Given the description of an element on the screen output the (x, y) to click on. 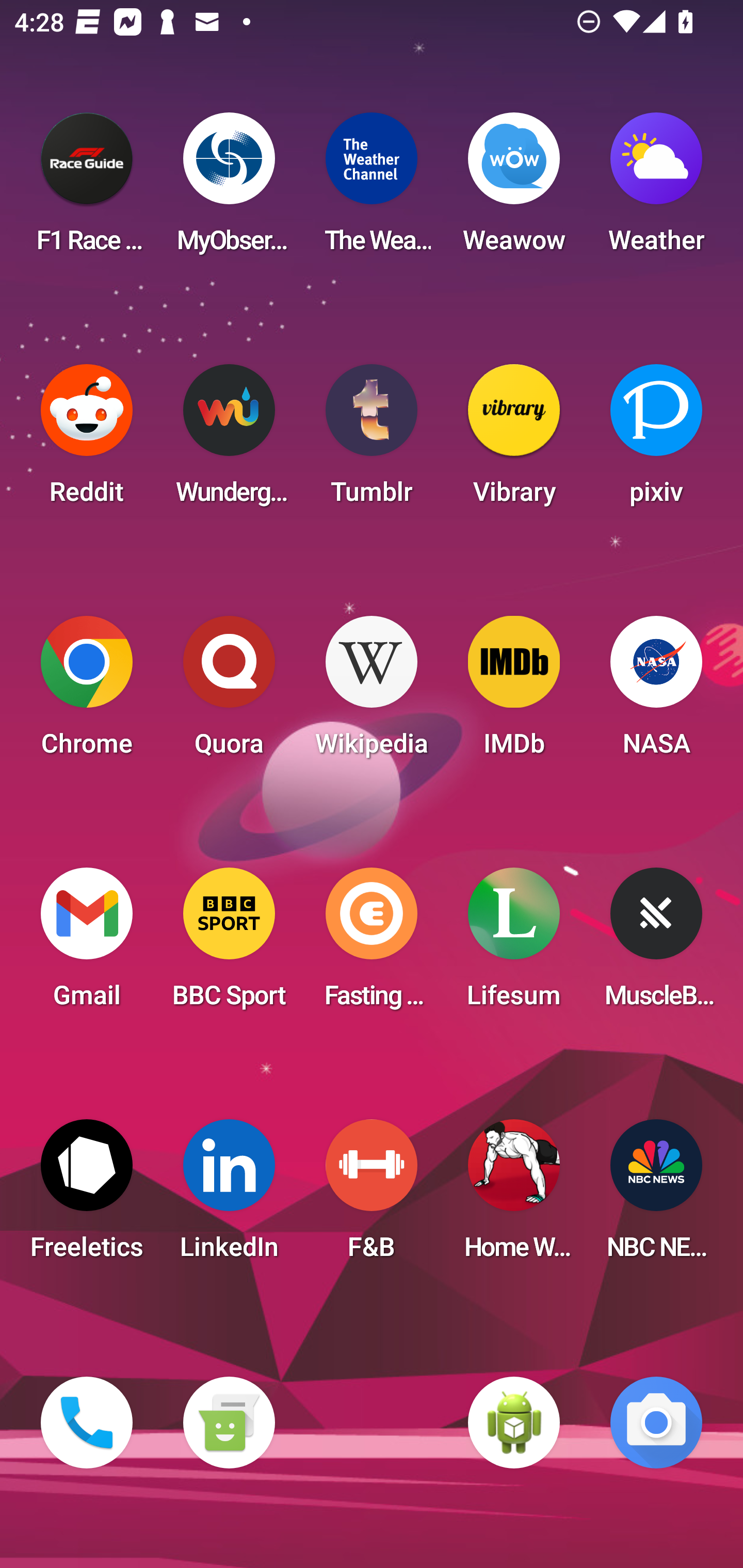
F1 Race Guide (86, 188)
MyObservatory (228, 188)
The Weather Channel (371, 188)
Weawow (513, 188)
Weather (656, 188)
Reddit (86, 440)
Wunderground (228, 440)
Tumblr (371, 440)
Vibrary (513, 440)
pixiv (656, 440)
Chrome (86, 692)
Quora (228, 692)
Wikipedia (371, 692)
IMDb (513, 692)
NASA (656, 692)
Gmail (86, 943)
BBC Sport (228, 943)
Fasting Coach (371, 943)
Lifesum (513, 943)
MuscleBooster (656, 943)
Freeletics (86, 1195)
LinkedIn (228, 1195)
F&B (371, 1195)
Home Workout (513, 1195)
NBC NEWS (656, 1195)
Phone (86, 1422)
Messaging (228, 1422)
WebView Browser Tester (513, 1422)
Camera (656, 1422)
